Given the description of an element on the screen output the (x, y) to click on. 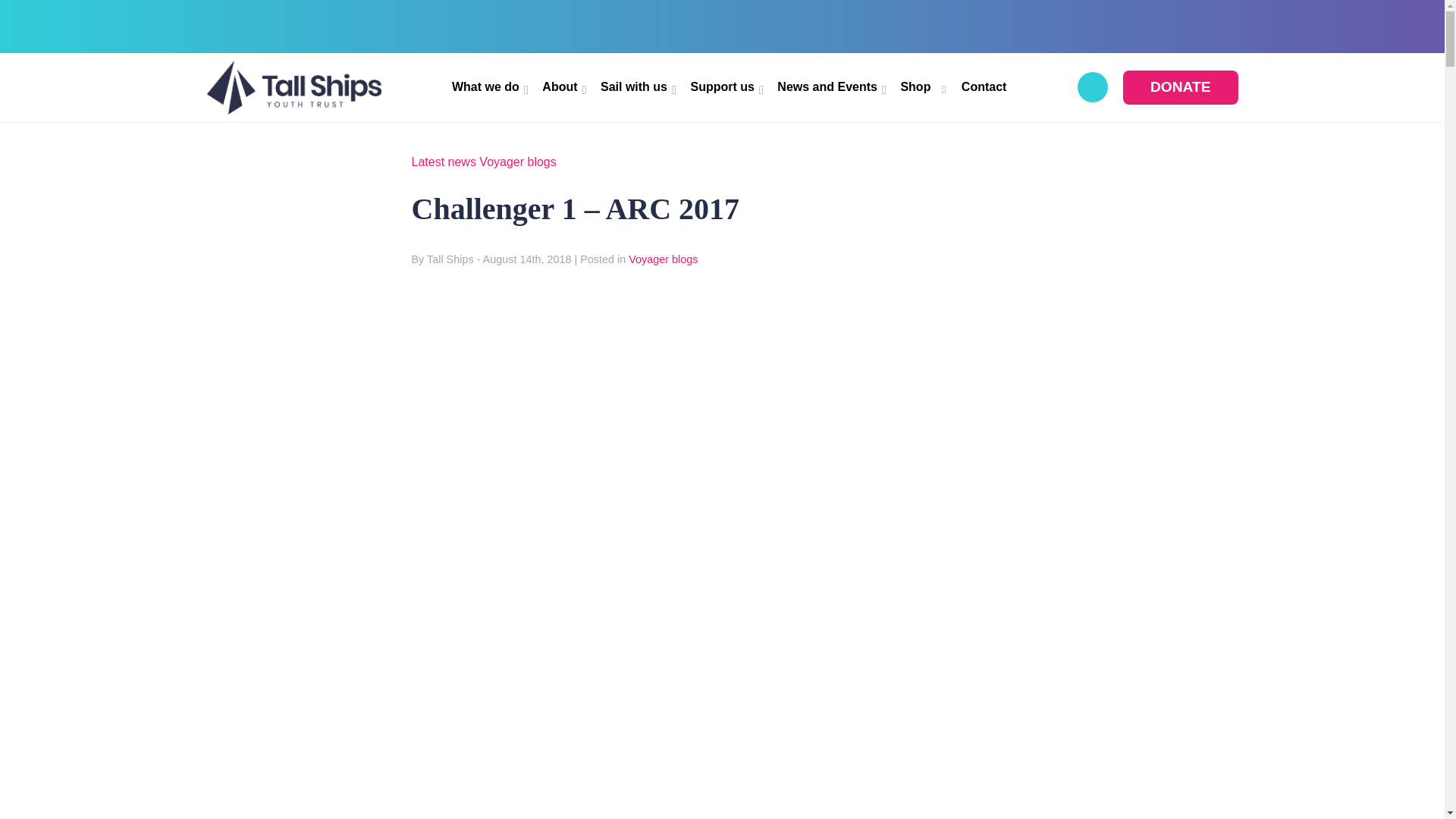
News and Events (831, 87)
Sail with us (637, 87)
Shop (921, 87)
About (563, 87)
Contact (983, 87)
Support us (725, 87)
DONATE (1180, 87)
What we do (489, 87)
